Given the description of an element on the screen output the (x, y) to click on. 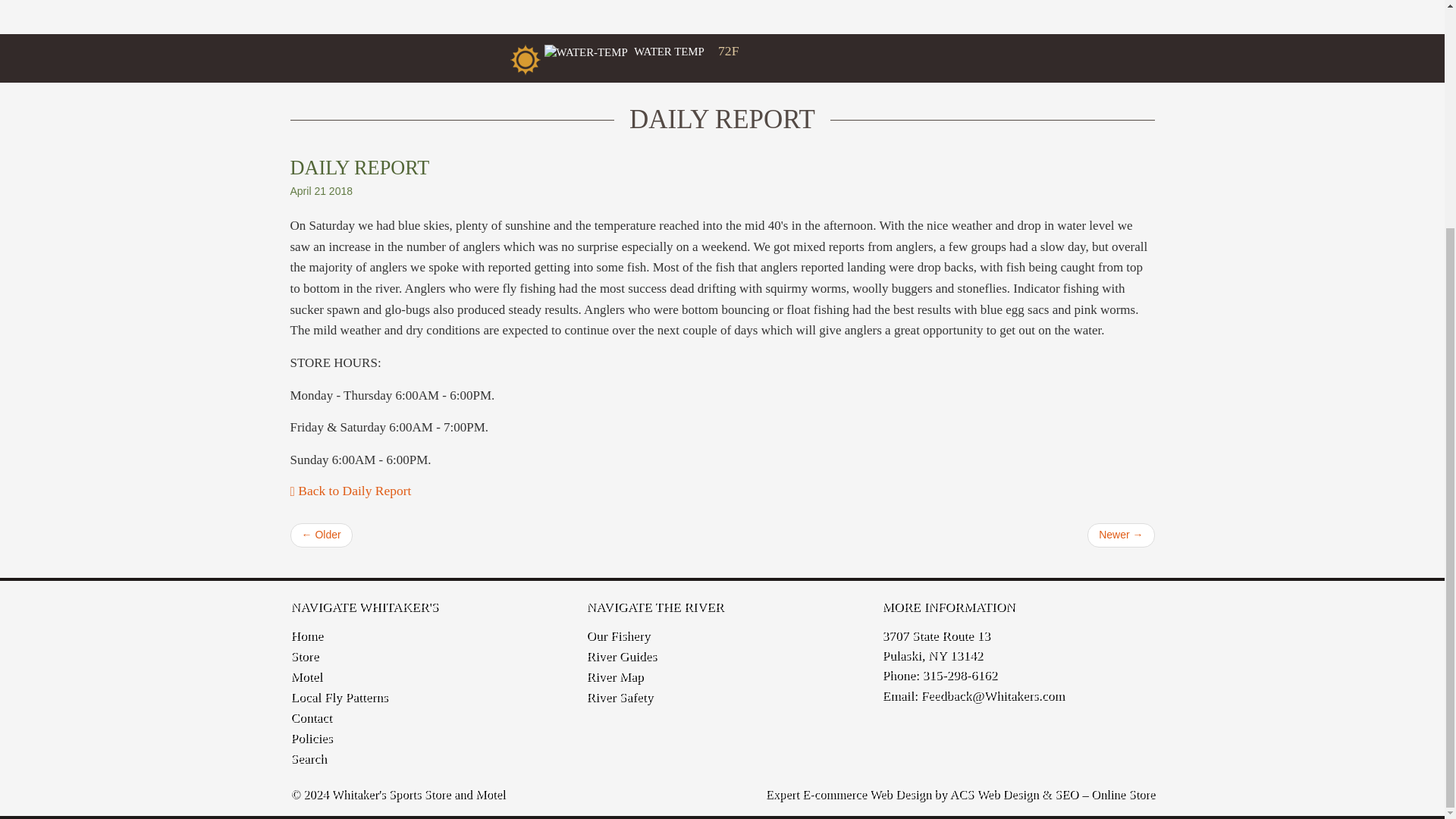
Back to Daily Report (349, 490)
Store (303, 655)
Home (305, 635)
Expert E-commerce Web Design Syracuse, NY (959, 793)
